Given the description of an element on the screen output the (x, y) to click on. 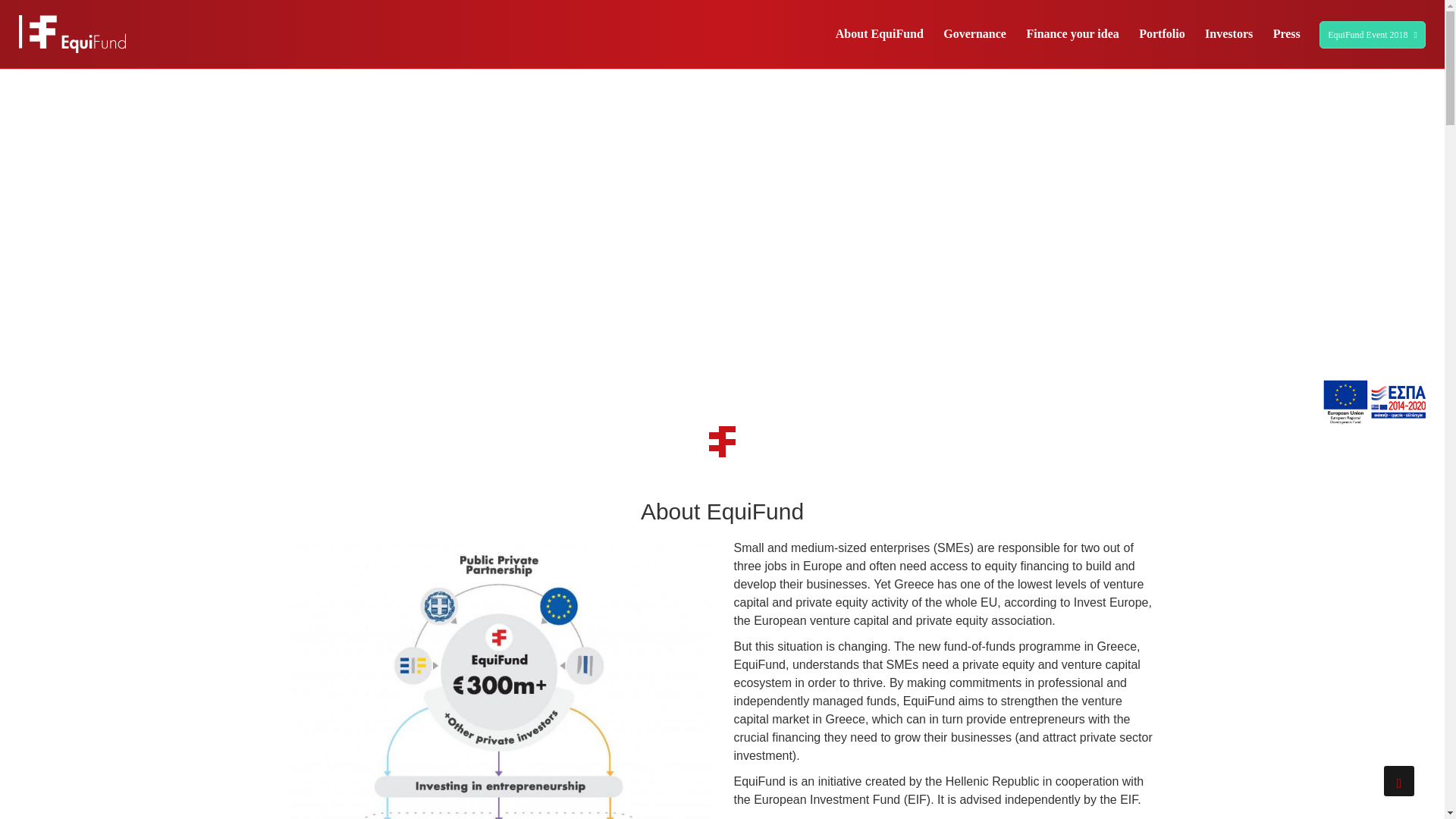
Investors (1228, 33)
Press (1286, 33)
Governance (974, 33)
EquiFund Event 2018 (1372, 34)
About EquiFund (879, 33)
logo (71, 34)
Portfolio (1161, 33)
Finance your idea (1072, 33)
